Given the description of an element on the screen output the (x, y) to click on. 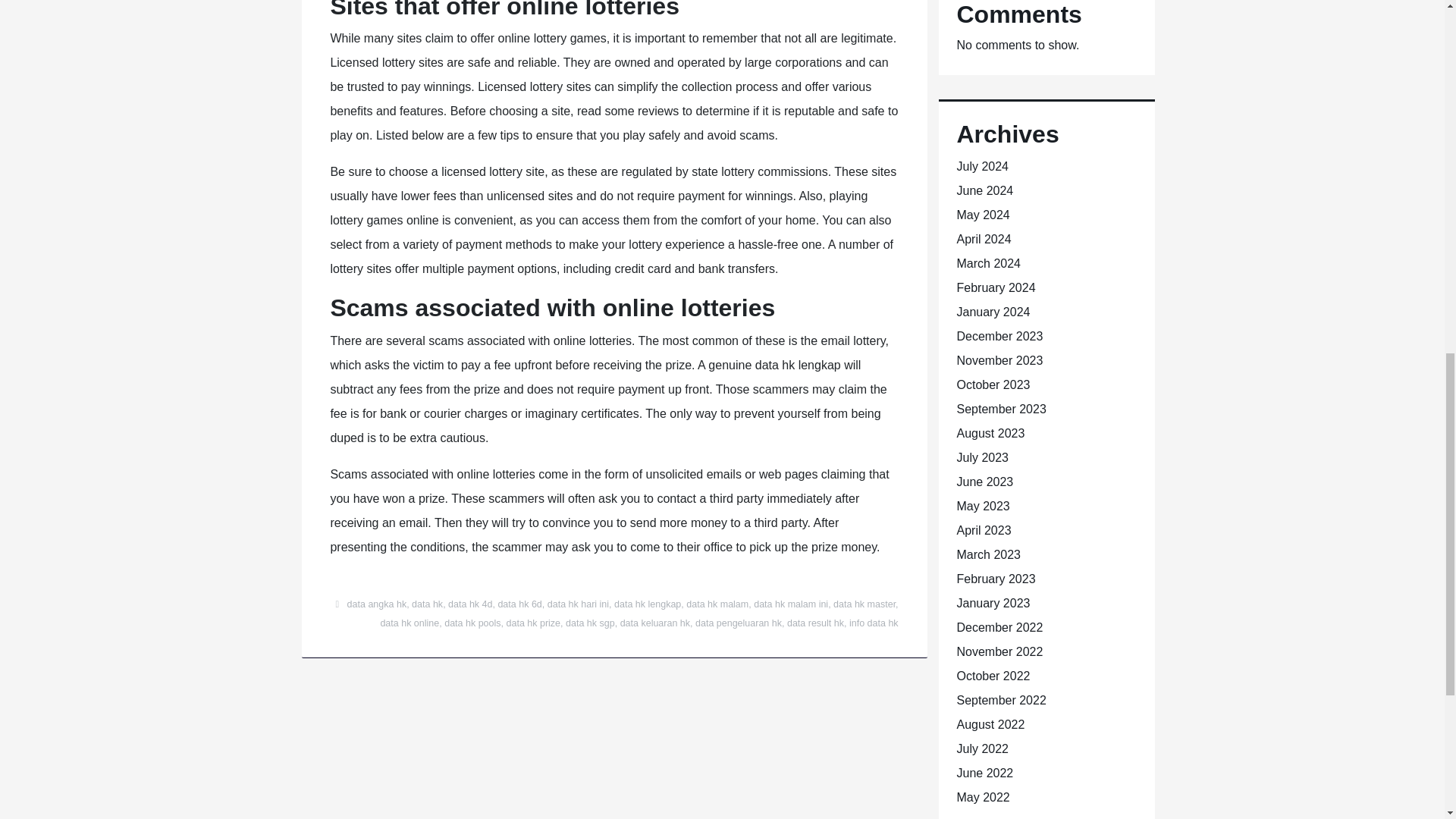
data hk sgp (590, 623)
data hk master (863, 603)
data hk prize (533, 623)
data hk hari ini (577, 603)
December 2023 (999, 336)
data hk lengkap (647, 603)
data result hk (815, 623)
November 2023 (999, 359)
data keluaran hk (655, 623)
March 2024 (989, 263)
data hk malam (716, 603)
January 2024 (993, 311)
October 2023 (993, 384)
data hk (427, 603)
data hk 6d (519, 603)
